Given the description of an element on the screen output the (x, y) to click on. 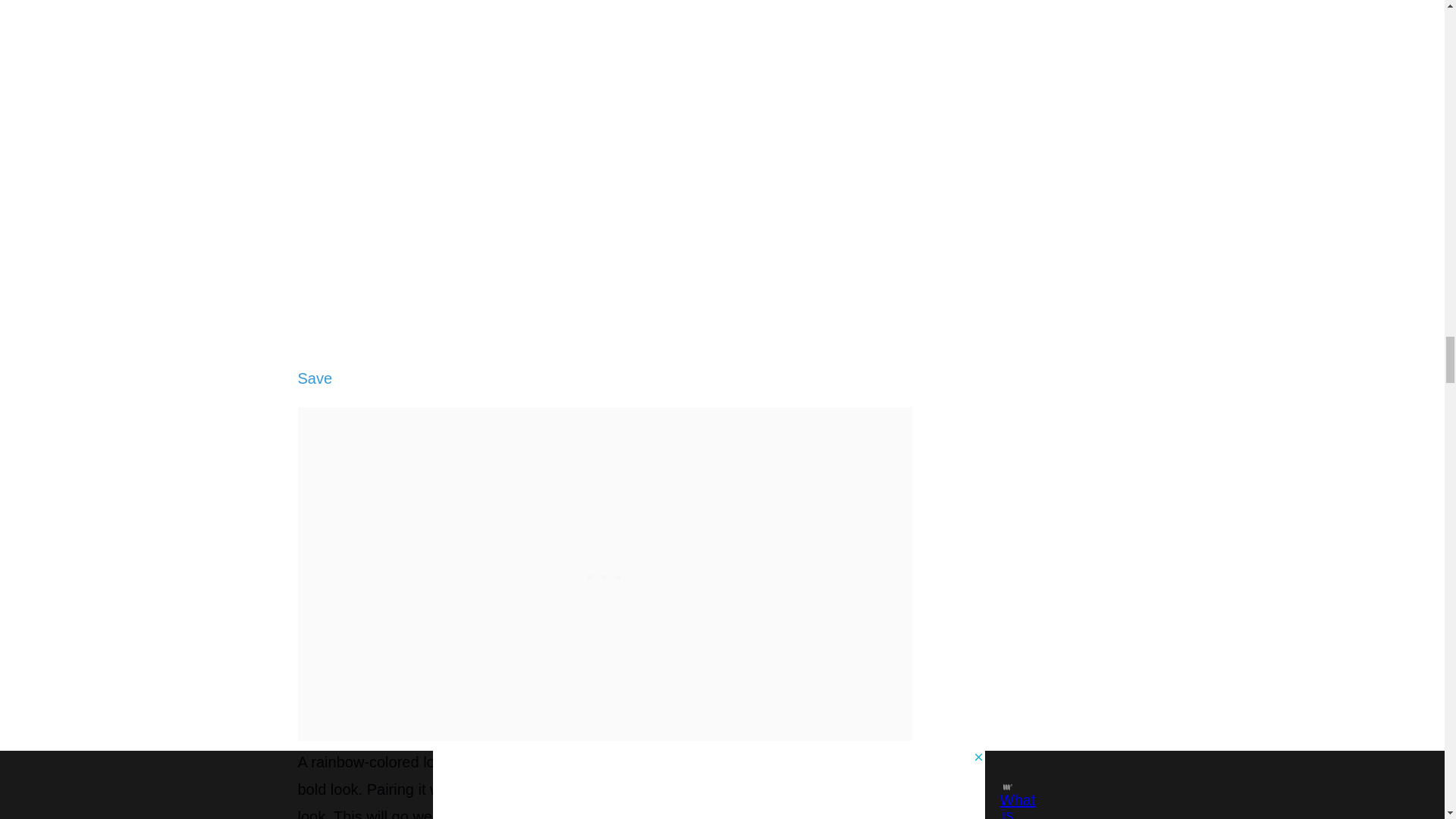
Save (314, 378)
